Given the description of an element on the screen output the (x, y) to click on. 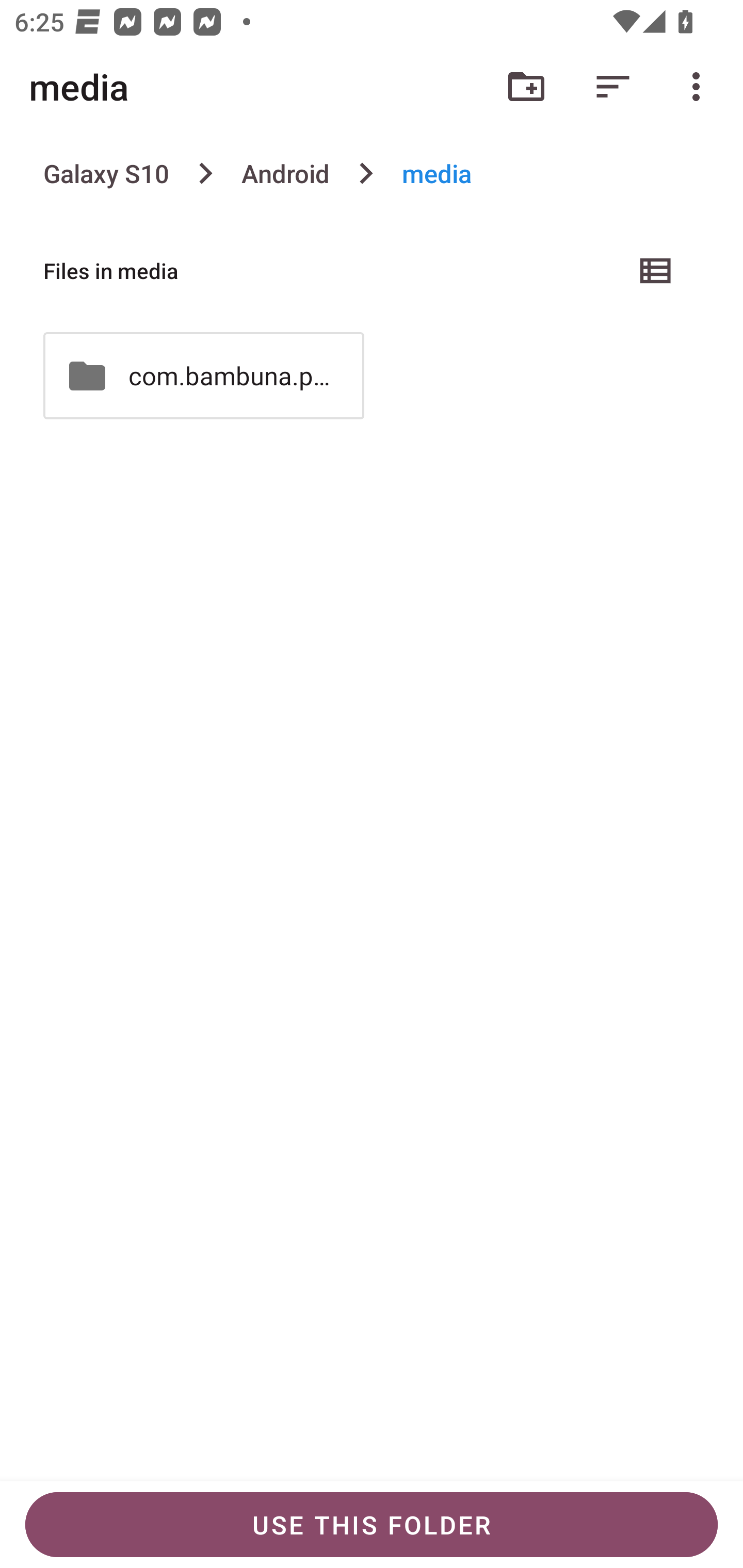
New folder (525, 86)
Sort by... (612, 86)
More options (699, 86)
List view (655, 270)
com.bambuna.podcastaddict (203, 375)
USE THIS FOLDER (371, 1524)
